Given the description of an element on the screen output the (x, y) to click on. 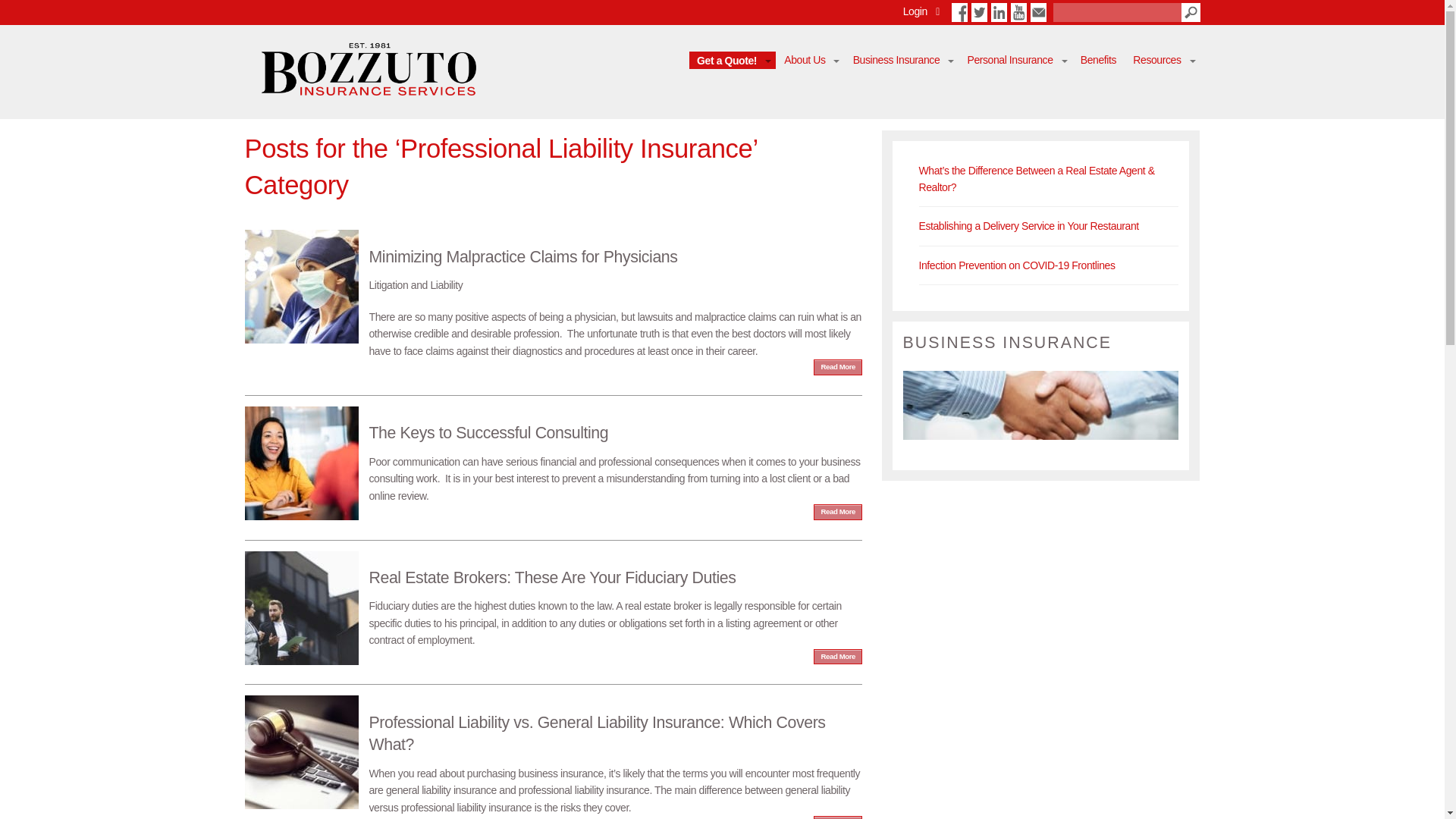
Business (1040, 435)
Business Insurance (901, 59)
Get a Quote! (732, 59)
Personal Insurance (1014, 59)
Read the full article... (552, 294)
About Us (810, 59)
Read the full article... (552, 600)
Read the full article... (552, 455)
Login (914, 10)
Read the full article... (552, 755)
